Given the description of an element on the screen output the (x, y) to click on. 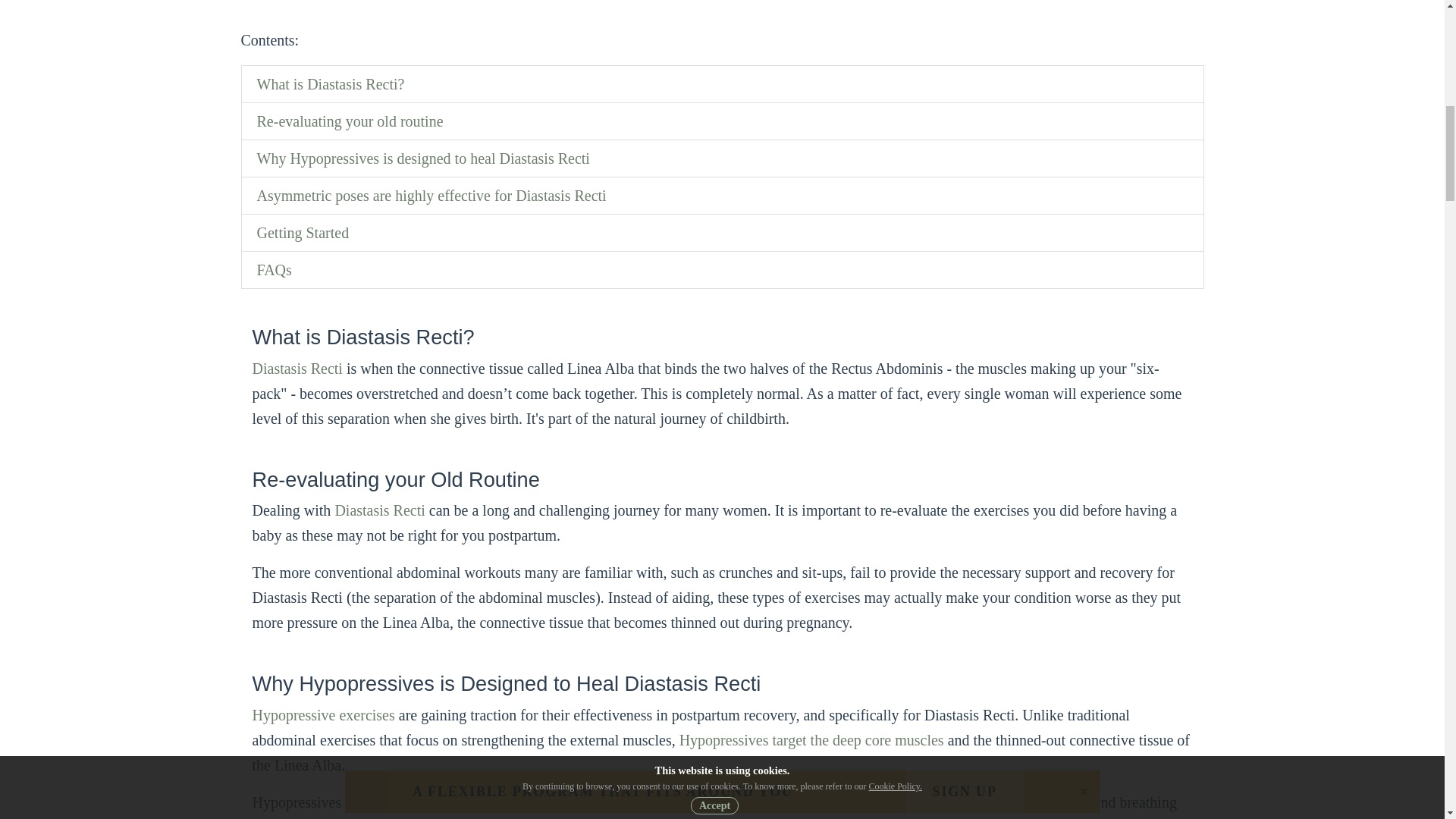
What is Diastasis Recti? (330, 84)
FAQs (273, 269)
What is Diastasis Recti? (330, 84)
Asymmetric poses are highly effective for Diastasis Recti (430, 195)
Diastasis Recti (296, 368)
Re-evaluating your old routine (349, 121)
Why Hypopressives is designed to heal Diastasis Recti (422, 158)
Getting Started (302, 232)
Hypopressive exercises (322, 714)
and the thinned-out connective tissue of the Linea Alba. (720, 752)
Why Hypopressives is designed to heal Diastasis Recti (422, 158)
Asymmetric poses are highly effective for Diastasis Recti (430, 195)
FAQs (273, 269)
Getting Started (302, 232)
Re-evaluating your old routine (349, 121)
